Given the description of an element on the screen output the (x, y) to click on. 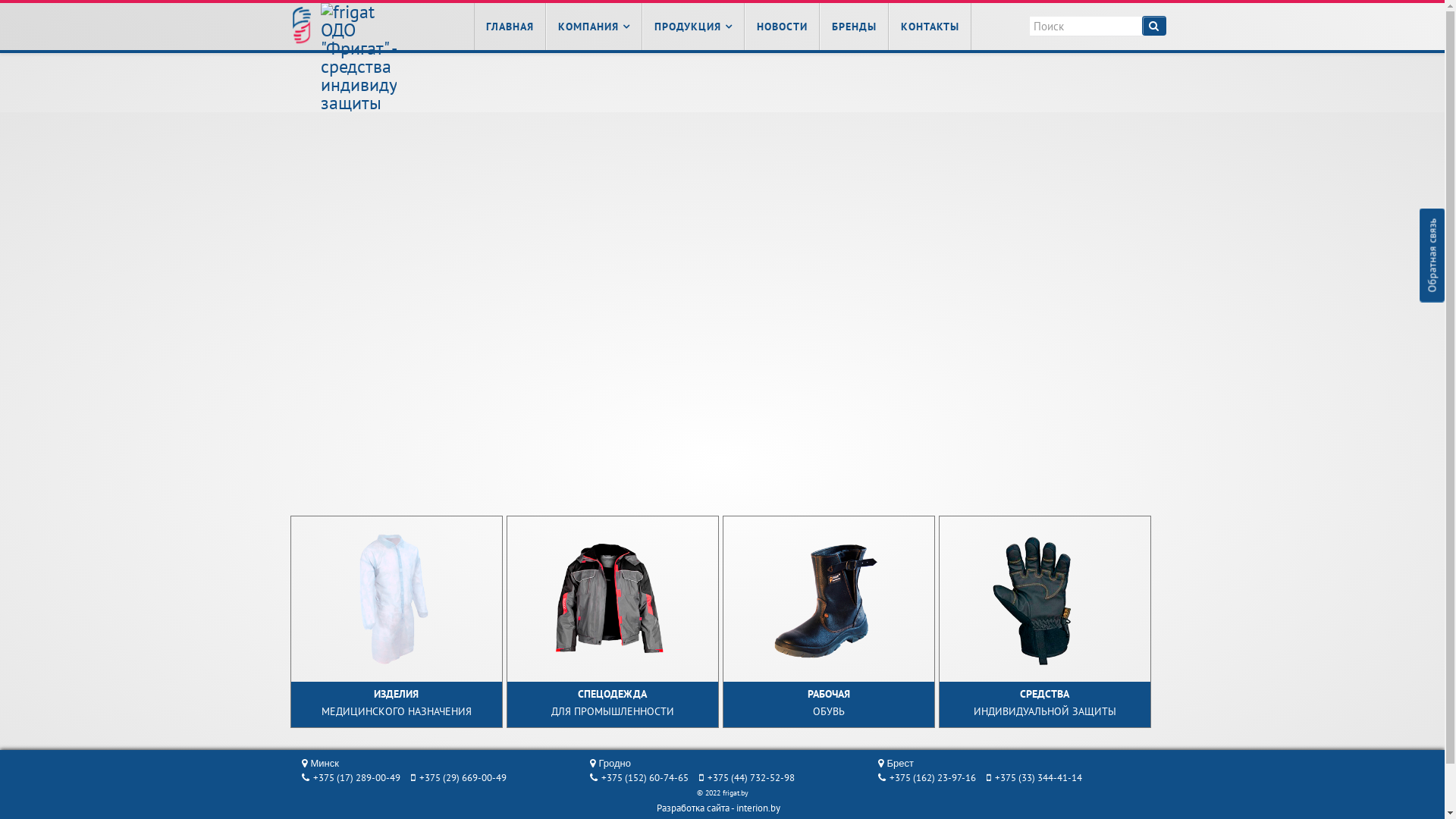
+375 (162) 23-97-16 Element type: text (926, 777)
+375 (44) 732-52-98 Element type: text (746, 777)
+375 (152) 60-74-65 Element type: text (638, 777)
+375 (33) 344-41-14 Element type: text (1033, 777)
+375 (29) 669-00-49 Element type: text (458, 777)
+375 (17) 289-00-49 Element type: text (350, 777)
